Given the description of an element on the screen output the (x, y) to click on. 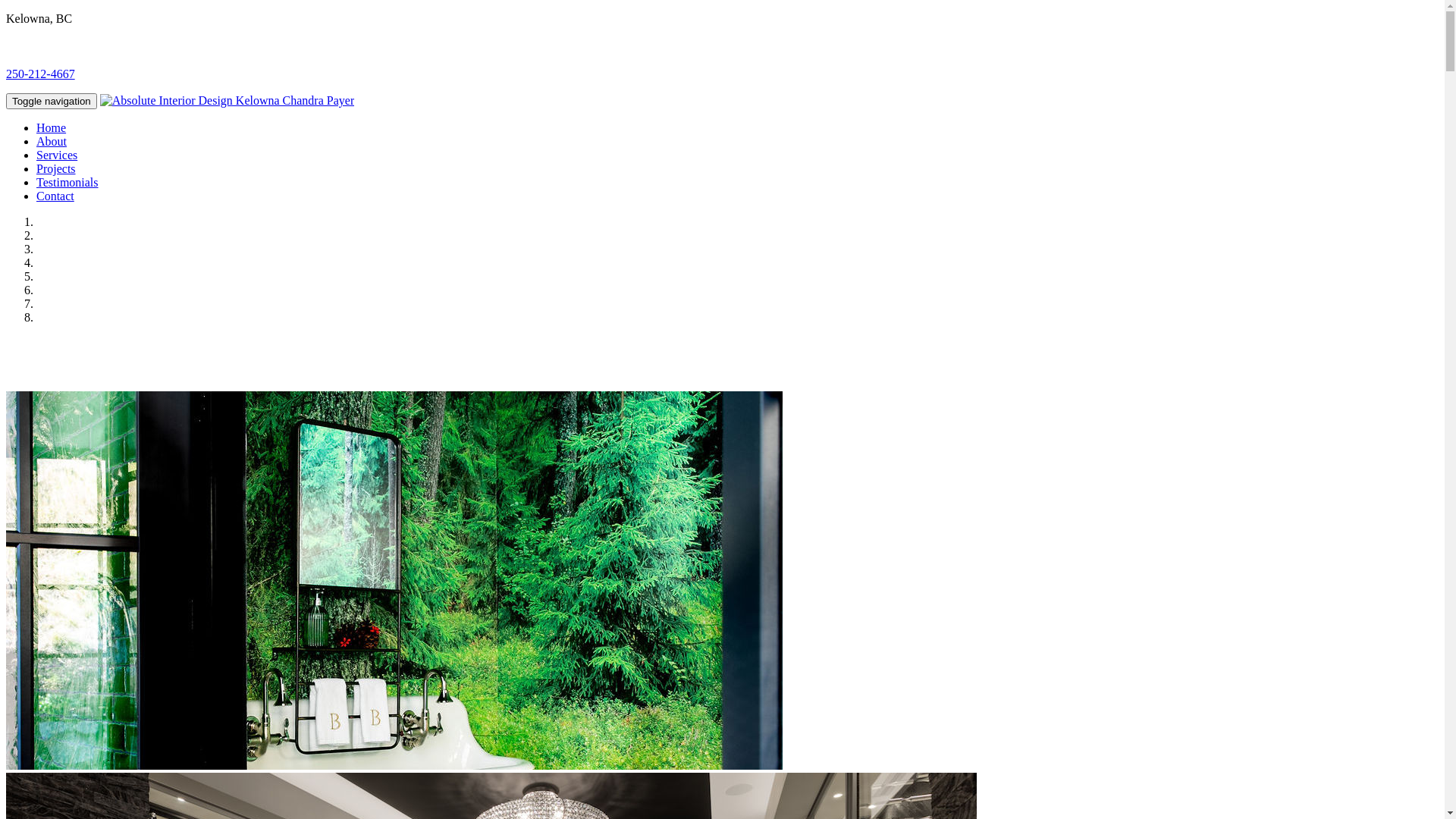
Services Element type: text (56, 154)
About Element type: text (51, 140)
Toggle navigation Element type: text (51, 101)
Contact Element type: text (55, 195)
Testimonials Element type: text (67, 181)
Projects Element type: text (55, 168)
Home Element type: text (50, 127)
250-212-4667 Element type: text (40, 73)
